Given the description of an element on the screen output the (x, y) to click on. 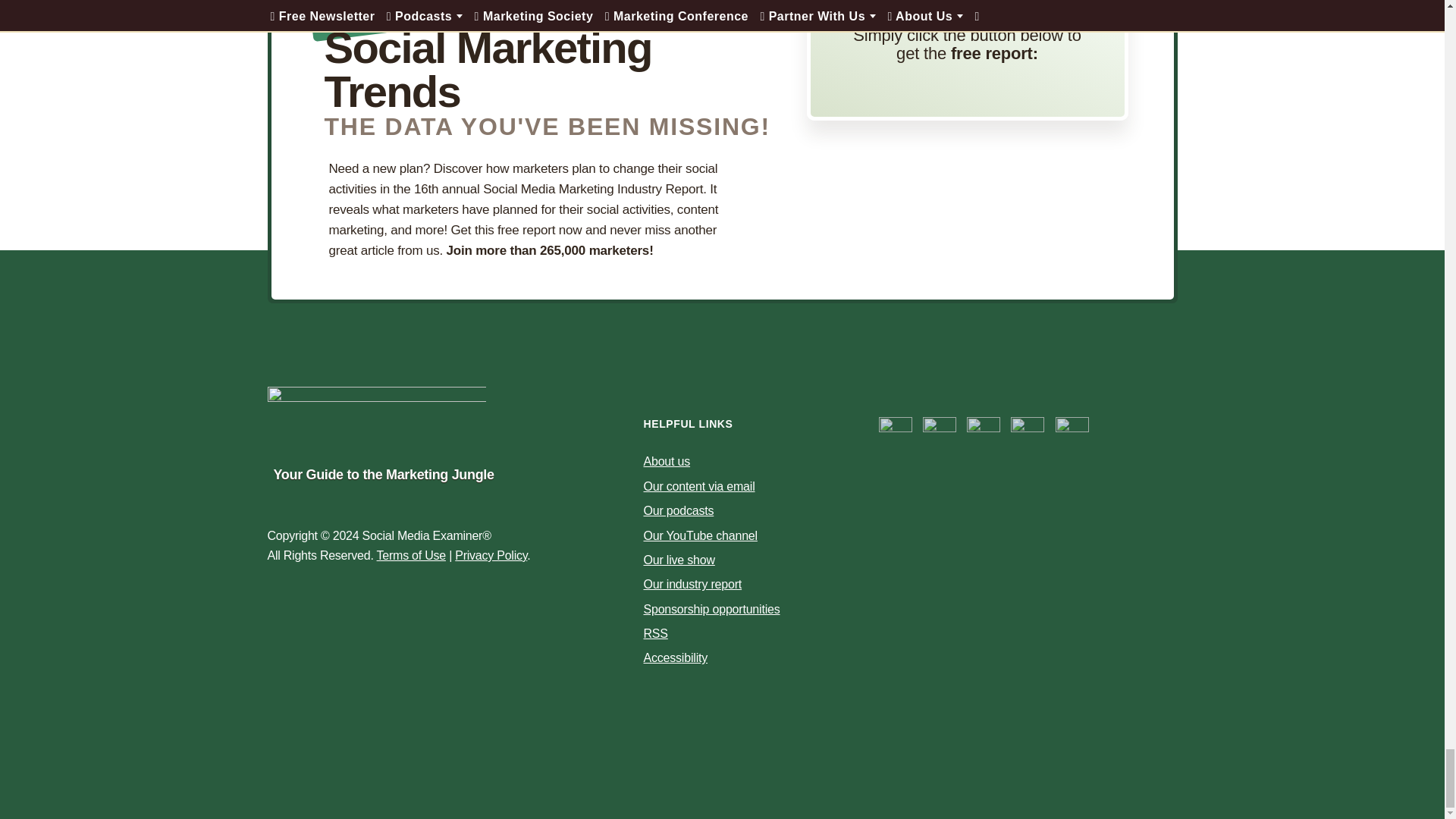
Turn on accessibility menu (675, 657)
